Given the description of an element on the screen output the (x, y) to click on. 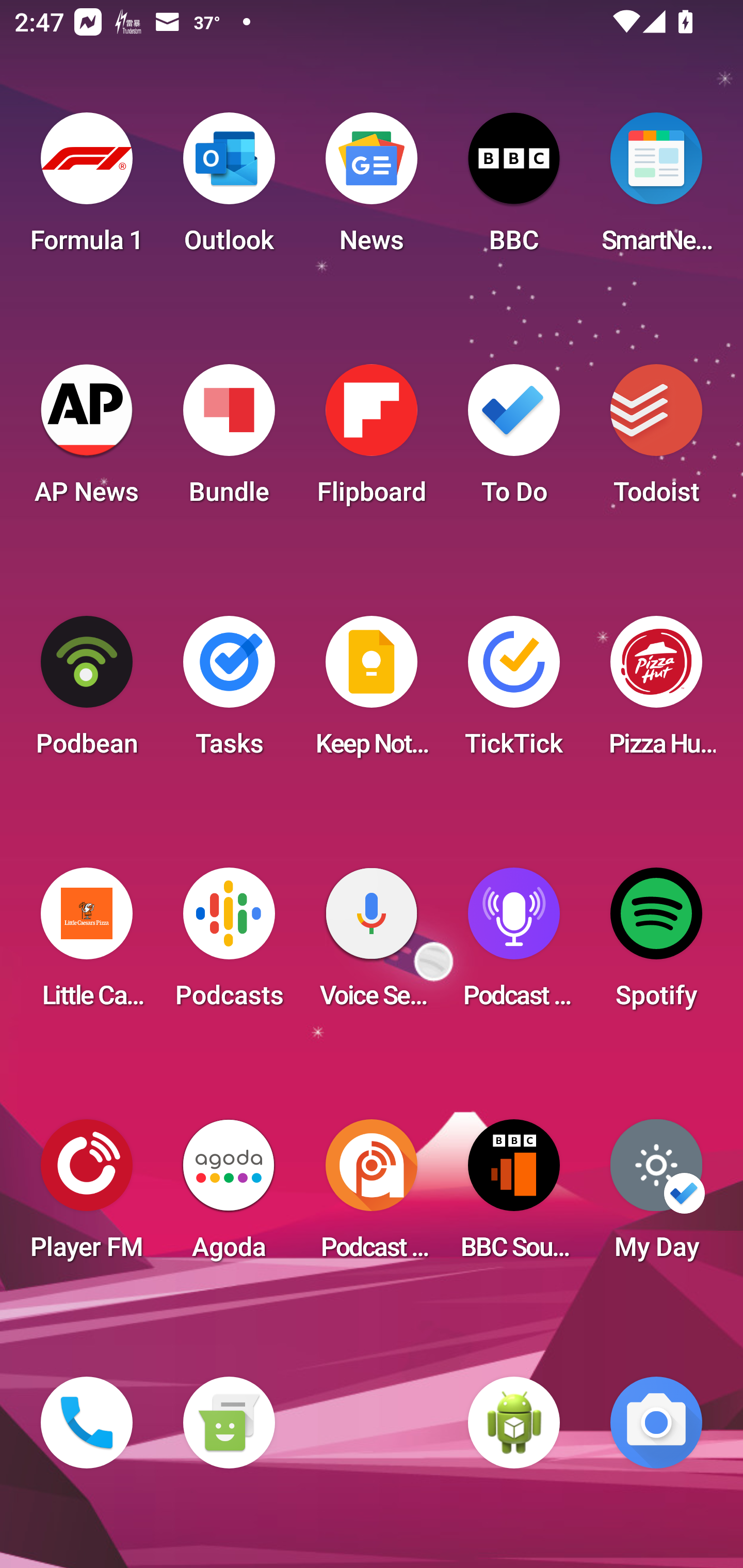
Formula 1 (86, 188)
Outlook (228, 188)
News (371, 188)
BBC (513, 188)
SmartNews (656, 188)
AP News (86, 440)
Bundle (228, 440)
Flipboard (371, 440)
To Do (513, 440)
Todoist (656, 440)
Podbean (86, 692)
Tasks (228, 692)
Keep Notes (371, 692)
TickTick (513, 692)
Pizza Hut HK & Macau (656, 692)
Little Caesars Pizza (86, 943)
Podcasts (228, 943)
Voice Search (371, 943)
Podcast Player (513, 943)
Spotify (656, 943)
Player FM (86, 1195)
Agoda (228, 1195)
Podcast Addict (371, 1195)
BBC Sounds (513, 1195)
My Day (656, 1195)
Phone (86, 1422)
Messaging (228, 1422)
WebView Browser Tester (513, 1422)
Camera (656, 1422)
